Given the description of an element on the screen output the (x, y) to click on. 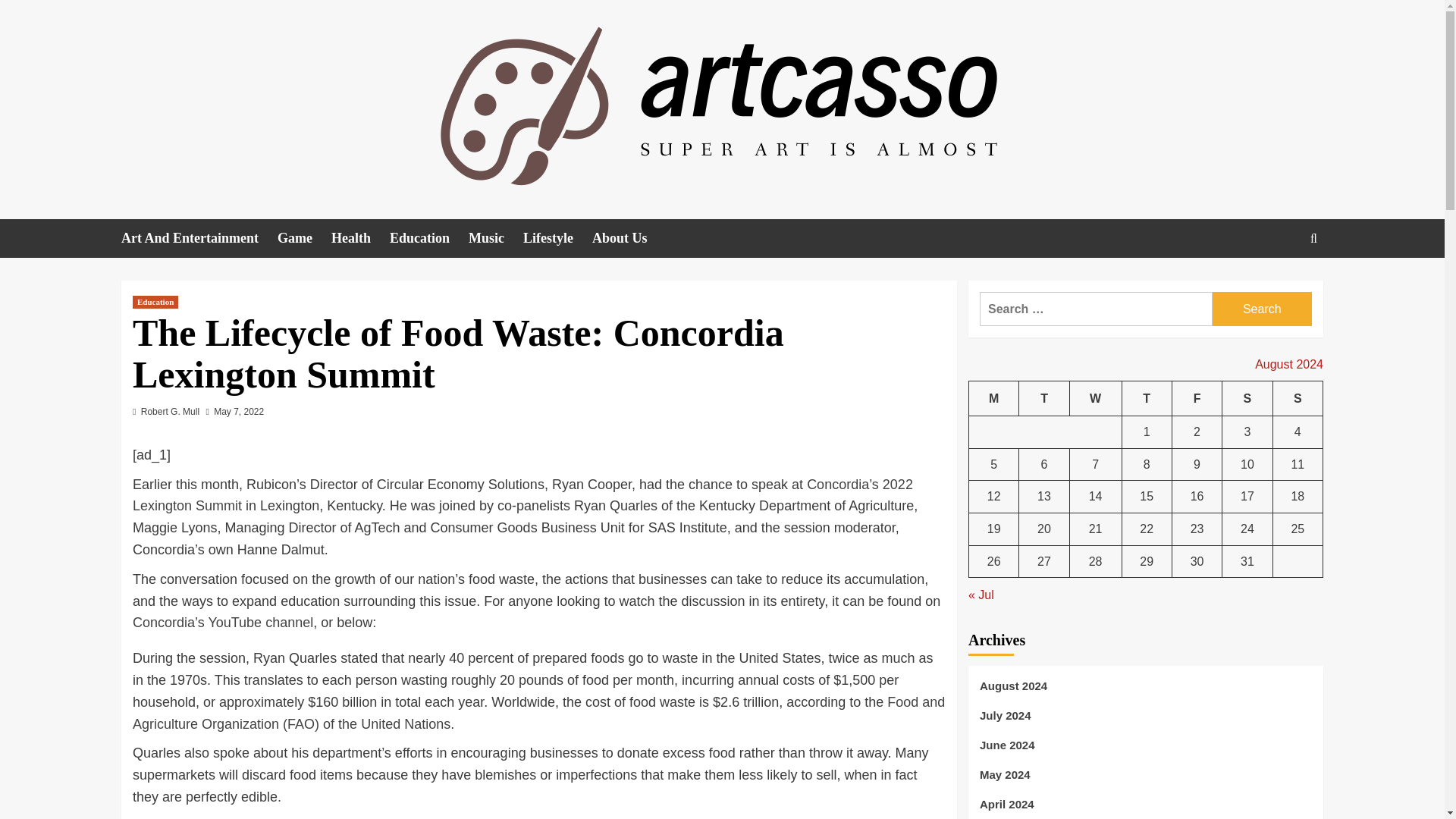
Health (360, 238)
Search (1278, 285)
Search (1261, 308)
May 7, 2022 (238, 411)
Search (1261, 308)
Monday (994, 398)
Game (304, 238)
Robert G. Mull (170, 411)
Friday (1196, 398)
Saturday (1247, 398)
Education (154, 301)
Wednesday (1094, 398)
Thursday (1146, 398)
Art And Entertainment (199, 238)
Sunday (1297, 398)
